Given the description of an element on the screen output the (x, y) to click on. 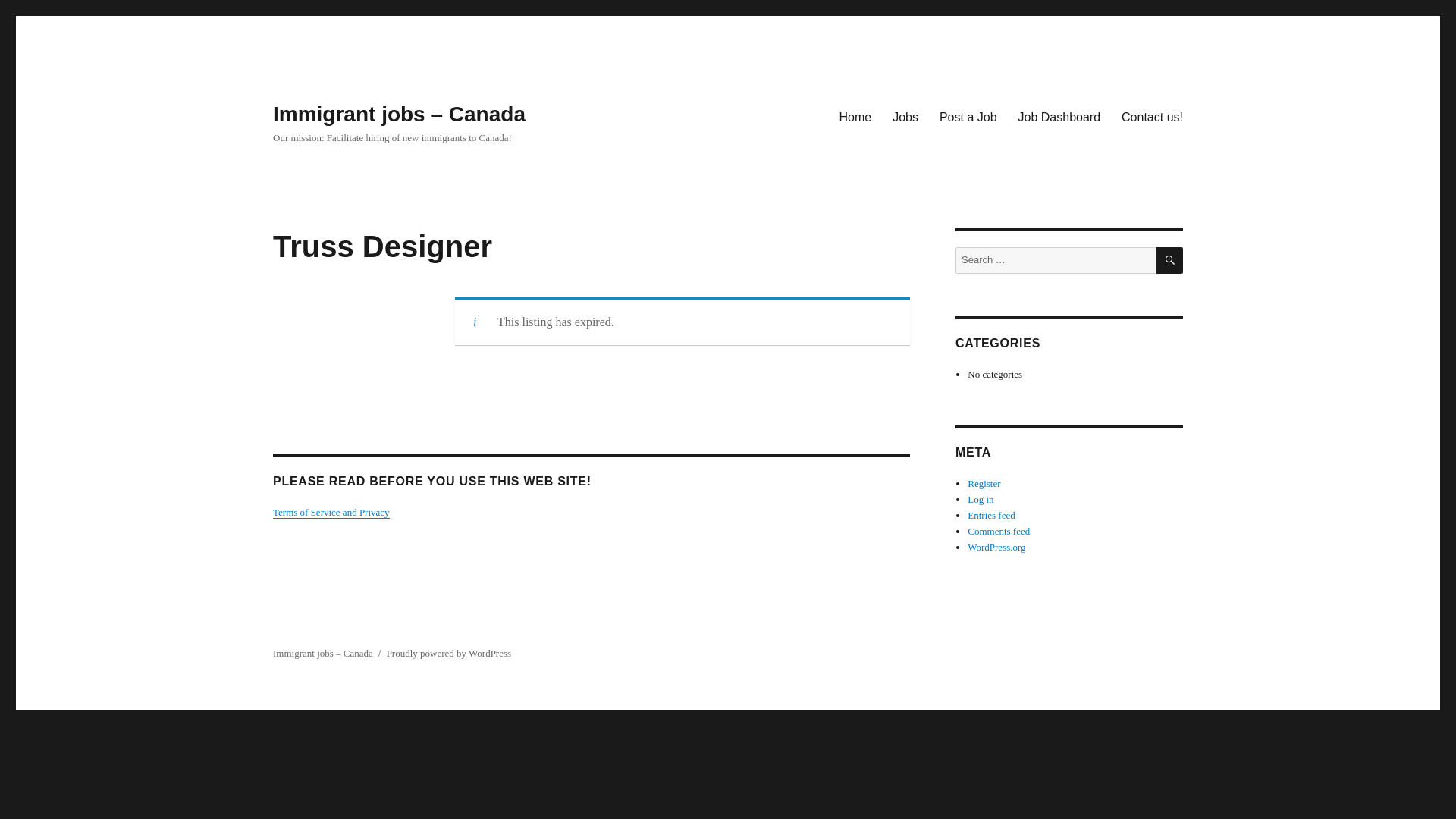
Jobs (905, 116)
Log in (980, 499)
SEARCH (1169, 260)
Post a Job (967, 116)
Comments feed (998, 531)
Register (984, 482)
Entries feed (991, 514)
Contact us! (1151, 116)
Terms of Service and Privacy (331, 511)
Home (855, 116)
Proudly powered by WordPress (449, 653)
WordPress.org (996, 546)
Job Dashboard (1059, 116)
